Given the description of an element on the screen output the (x, y) to click on. 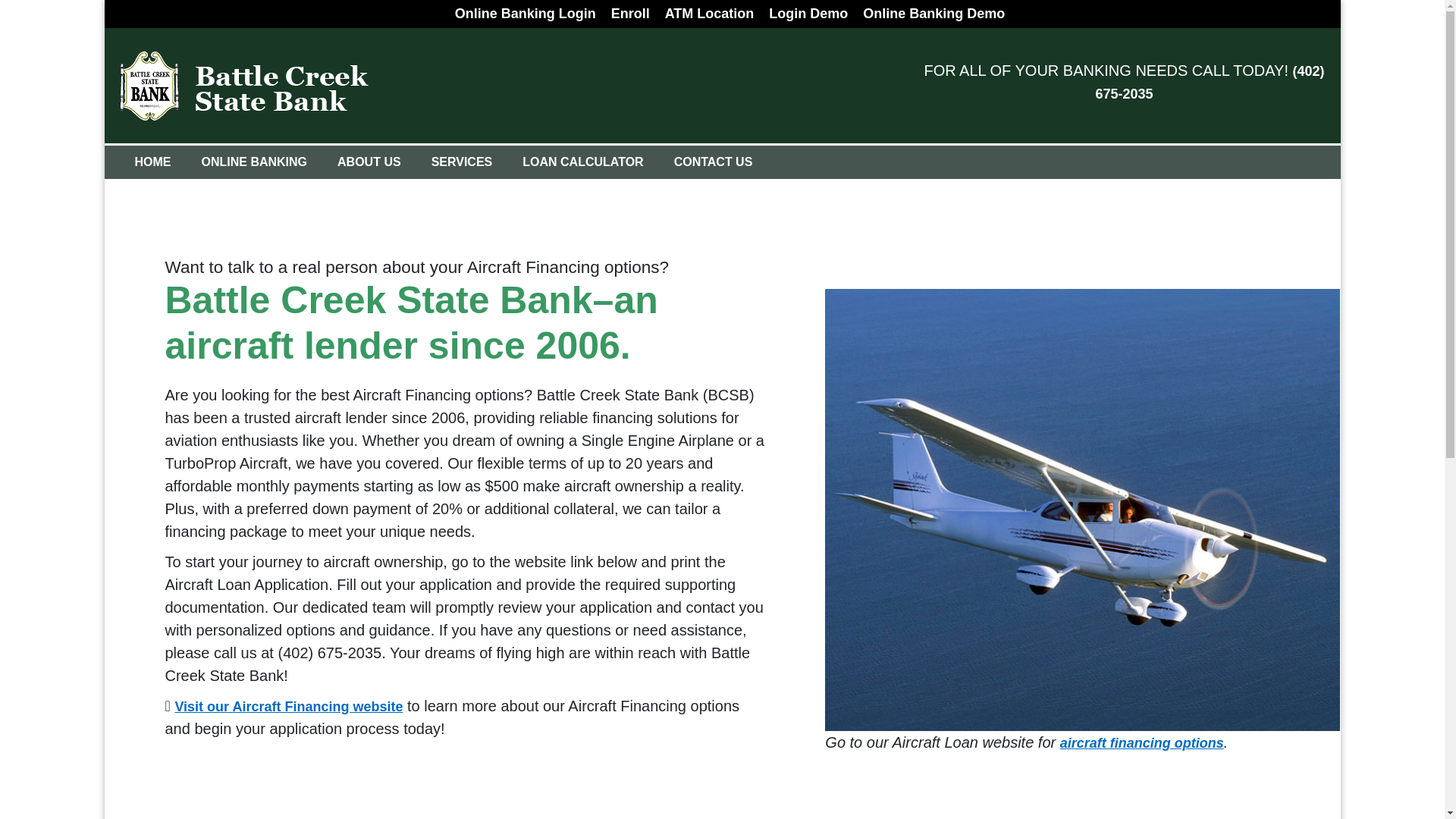
Enroll (630, 13)
LOAN CALCULATOR (582, 162)
Battle Creek State Bank in Nebraska (243, 84)
SERVICES (462, 162)
Online Banking Login (524, 13)
Aircraft Loans by Battle Creek State Bank (1141, 743)
HOME (152, 162)
Aircraft Loans by Battle Creek State Bank (288, 706)
Aircraft Financing options (1082, 508)
ONLINE BANKING (254, 162)
